Given the description of an element on the screen output the (x, y) to click on. 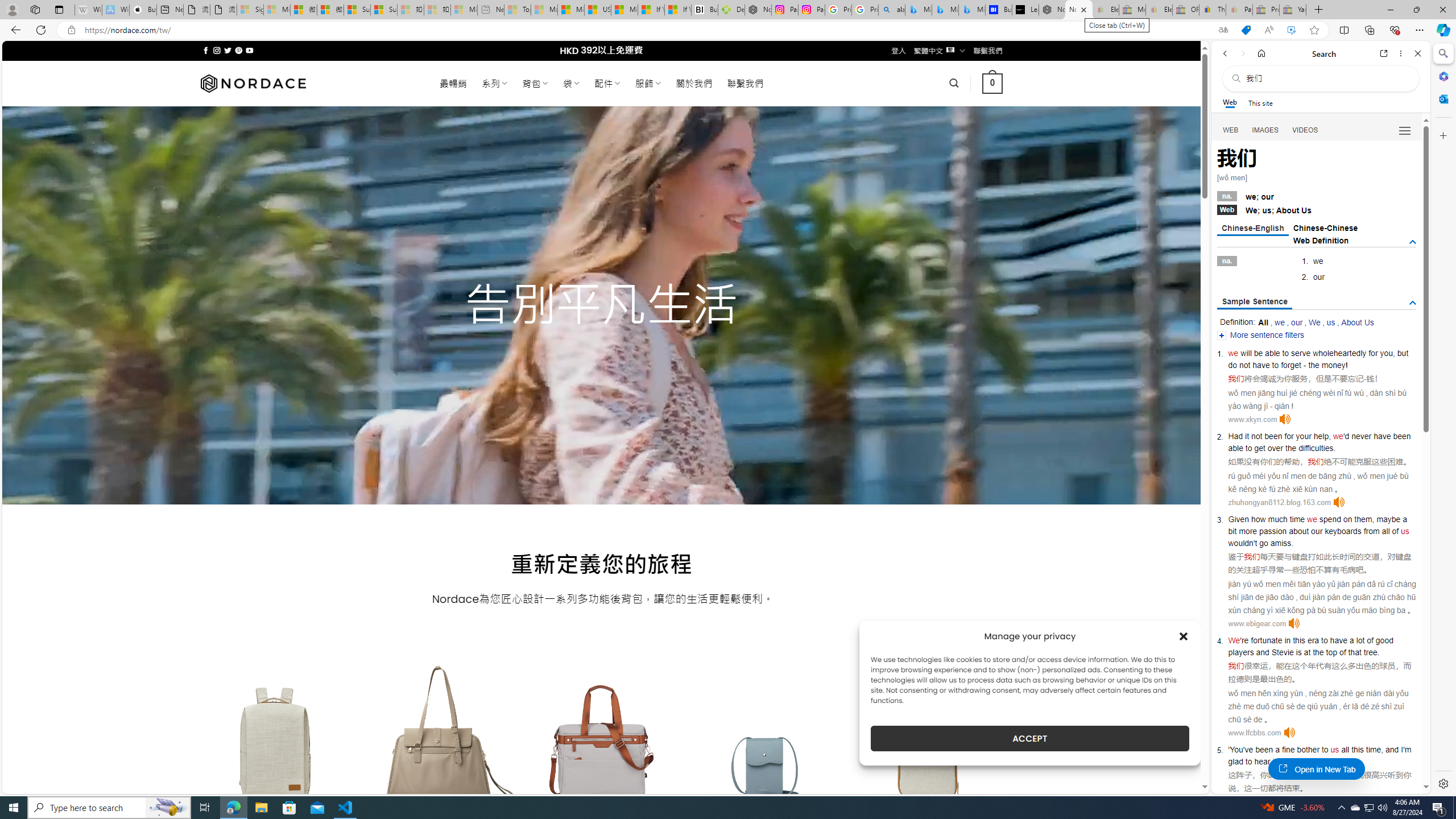
. (1330, 760)
Threats and offensive language policy | eBay (1211, 9)
Us (1306, 209)
but (1402, 352)
lot (1360, 640)
Microsoft Bing Travel - Flights from Hong Kong to Bangkok (917, 9)
